Given the description of an element on the screen output the (x, y) to click on. 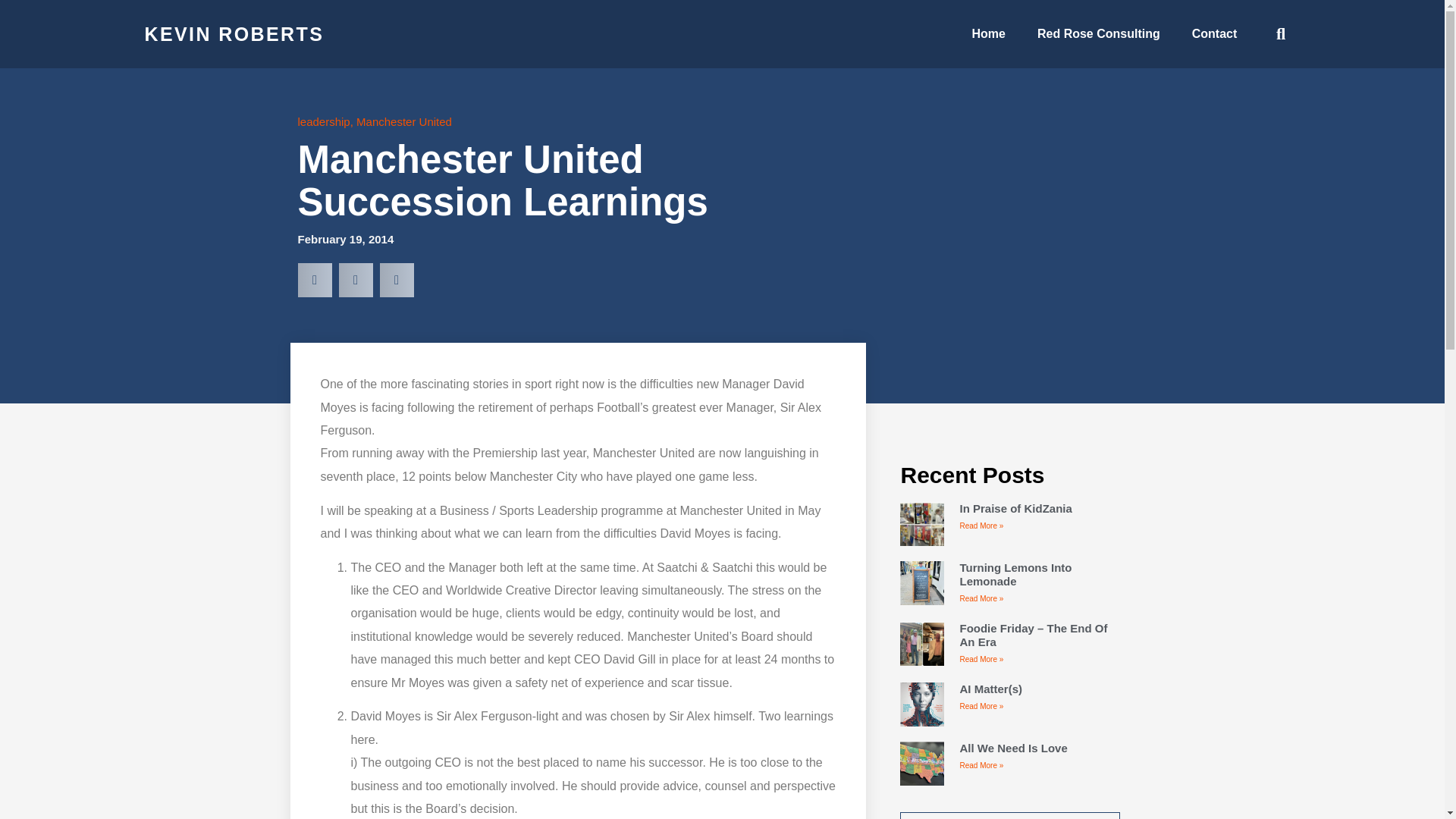
Manchester United (403, 121)
February 19, 2014 (345, 239)
Filter by Year (1009, 815)
All We Need Is Love (1013, 748)
Turning Lemons Into Lemonade (1015, 574)
In Praise of KidZania (1015, 508)
leadership (323, 121)
